Given the description of an element on the screen output the (x, y) to click on. 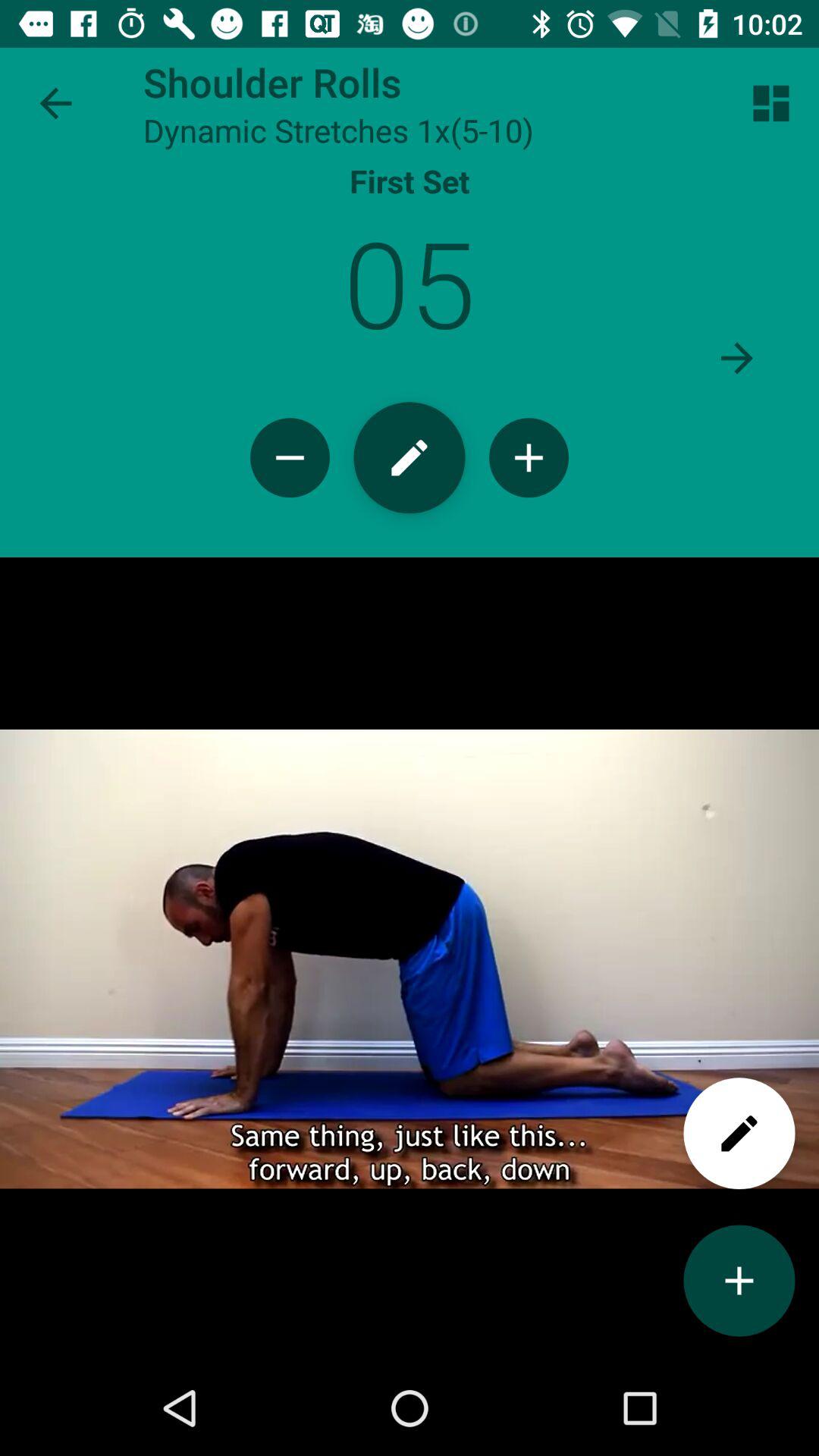
edit option (739, 1133)
